Given the description of an element on the screen output the (x, y) to click on. 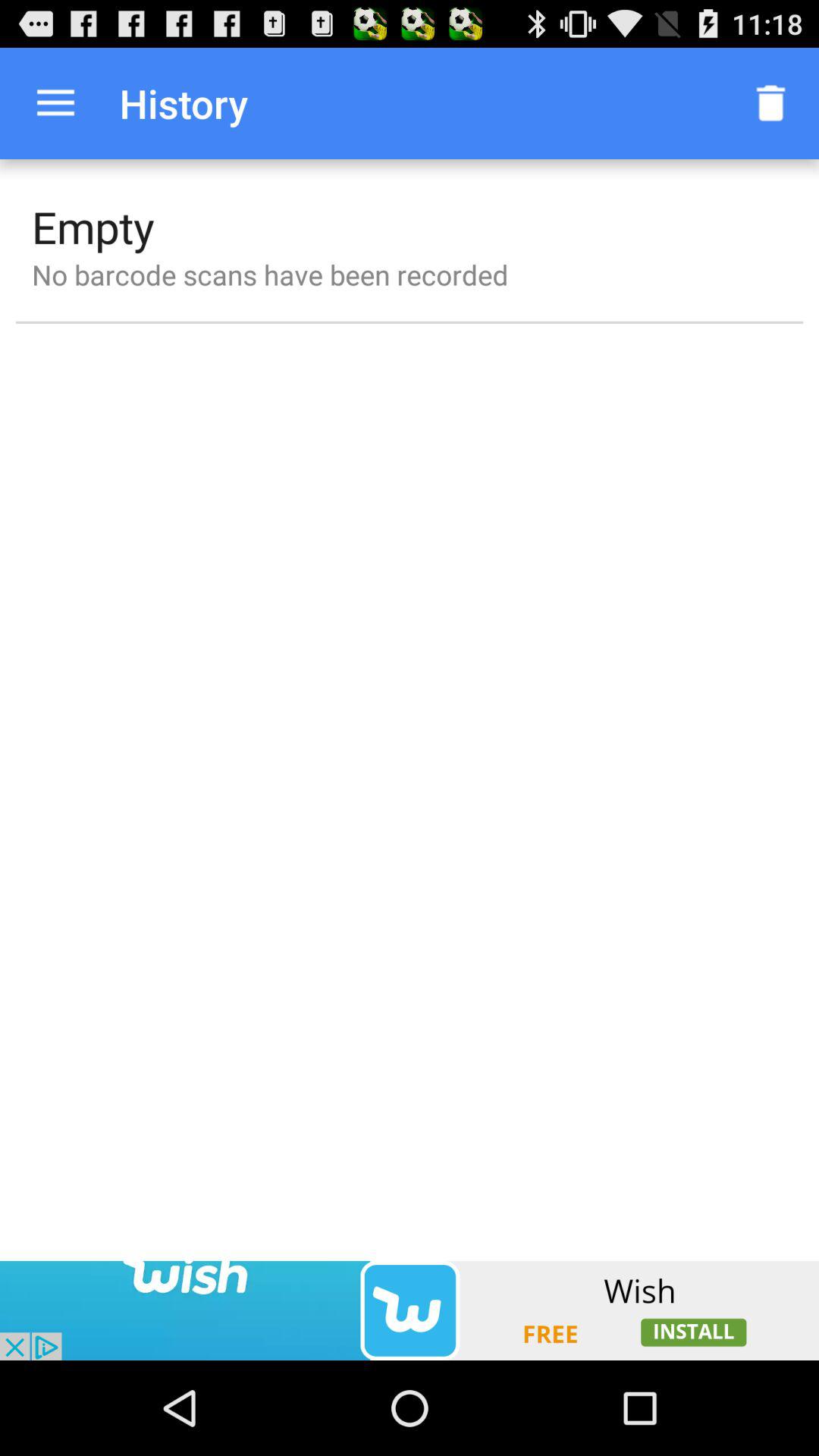
add the option (409, 1310)
